Given the description of an element on the screen output the (x, y) to click on. 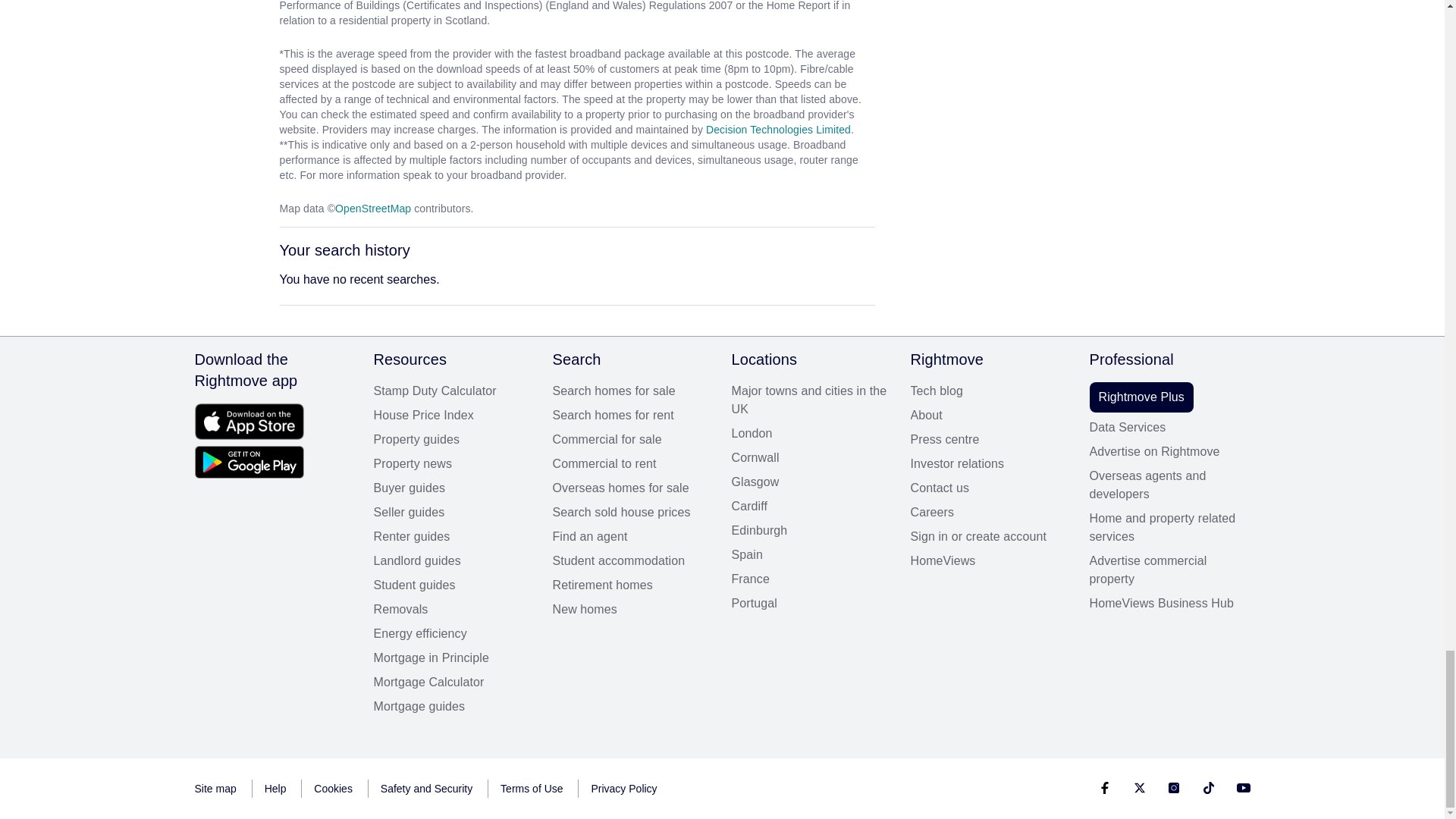
Renter guides (453, 536)
Buyer guides (453, 488)
Seller guides (453, 512)
House price index (453, 415)
Property guides (453, 439)
Stamp duty calculator (453, 391)
Landlord guides (453, 561)
Property news (453, 464)
Open Street Map (372, 208)
